Given the description of an element on the screen output the (x, y) to click on. 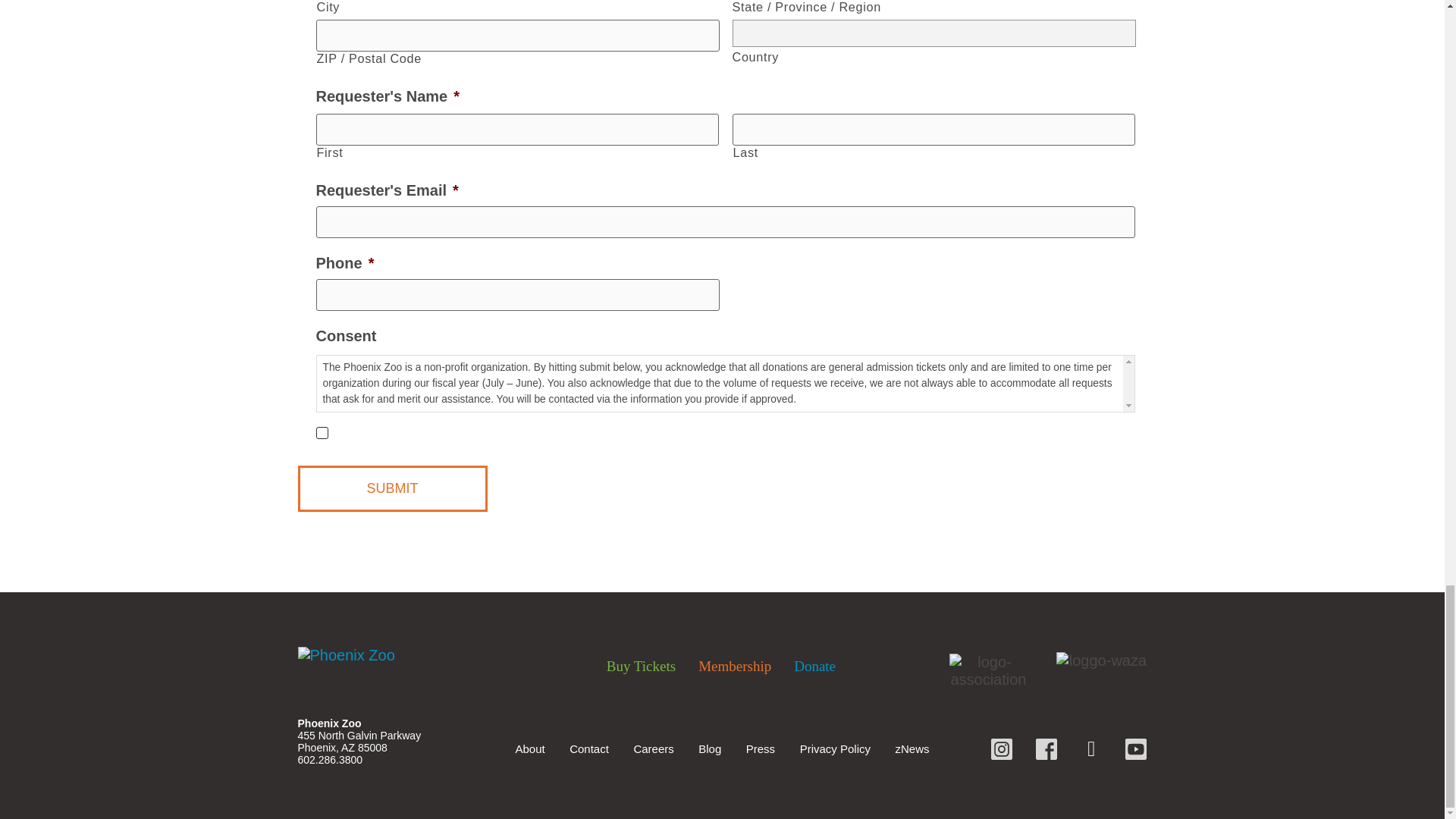
phoenix-zoo-logo-footer (398, 655)
Submit (391, 488)
